Given the description of an element on the screen output the (x, y) to click on. 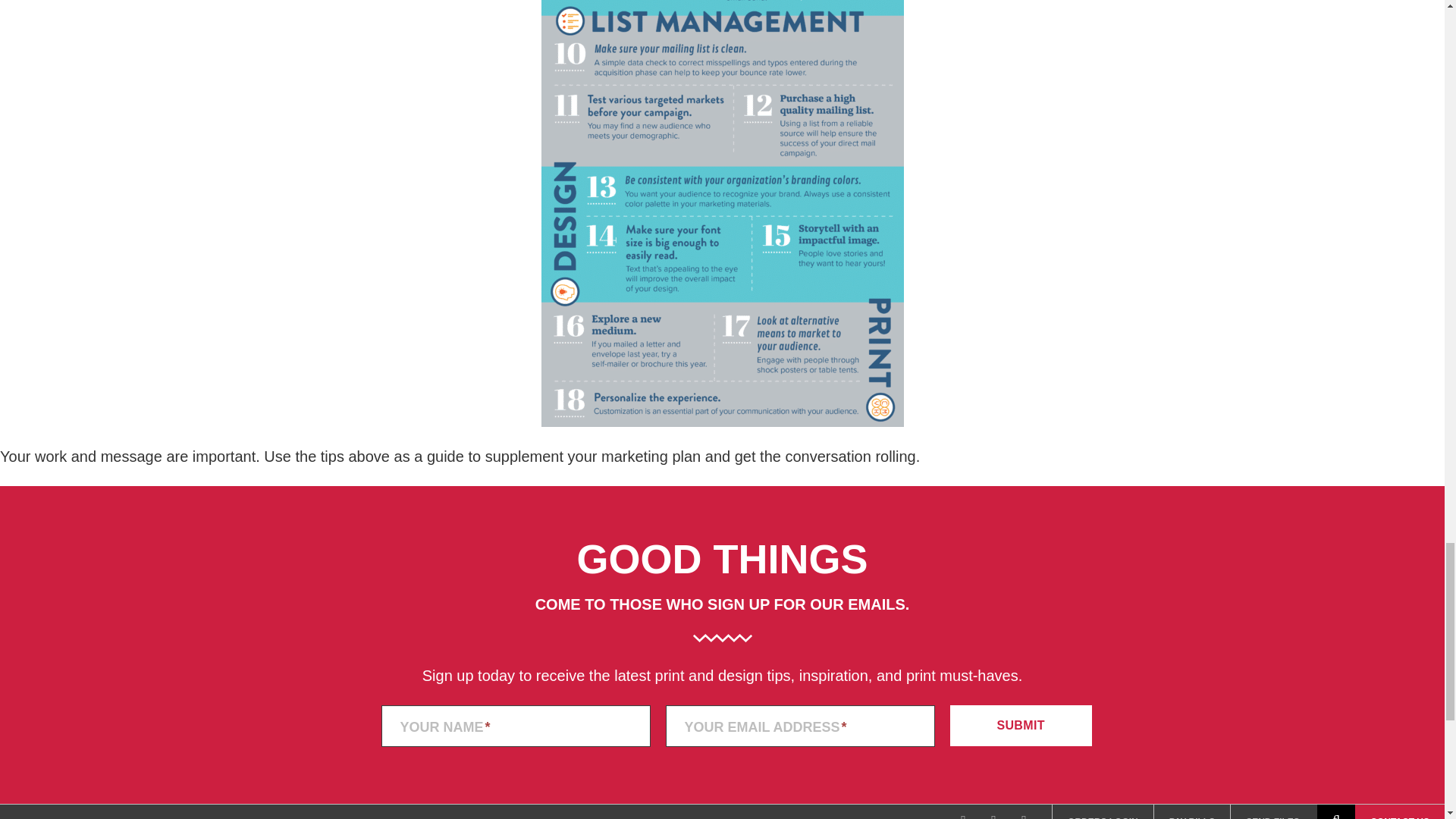
Search for: (1345, 811)
